Given the description of an element on the screen output the (x, y) to click on. 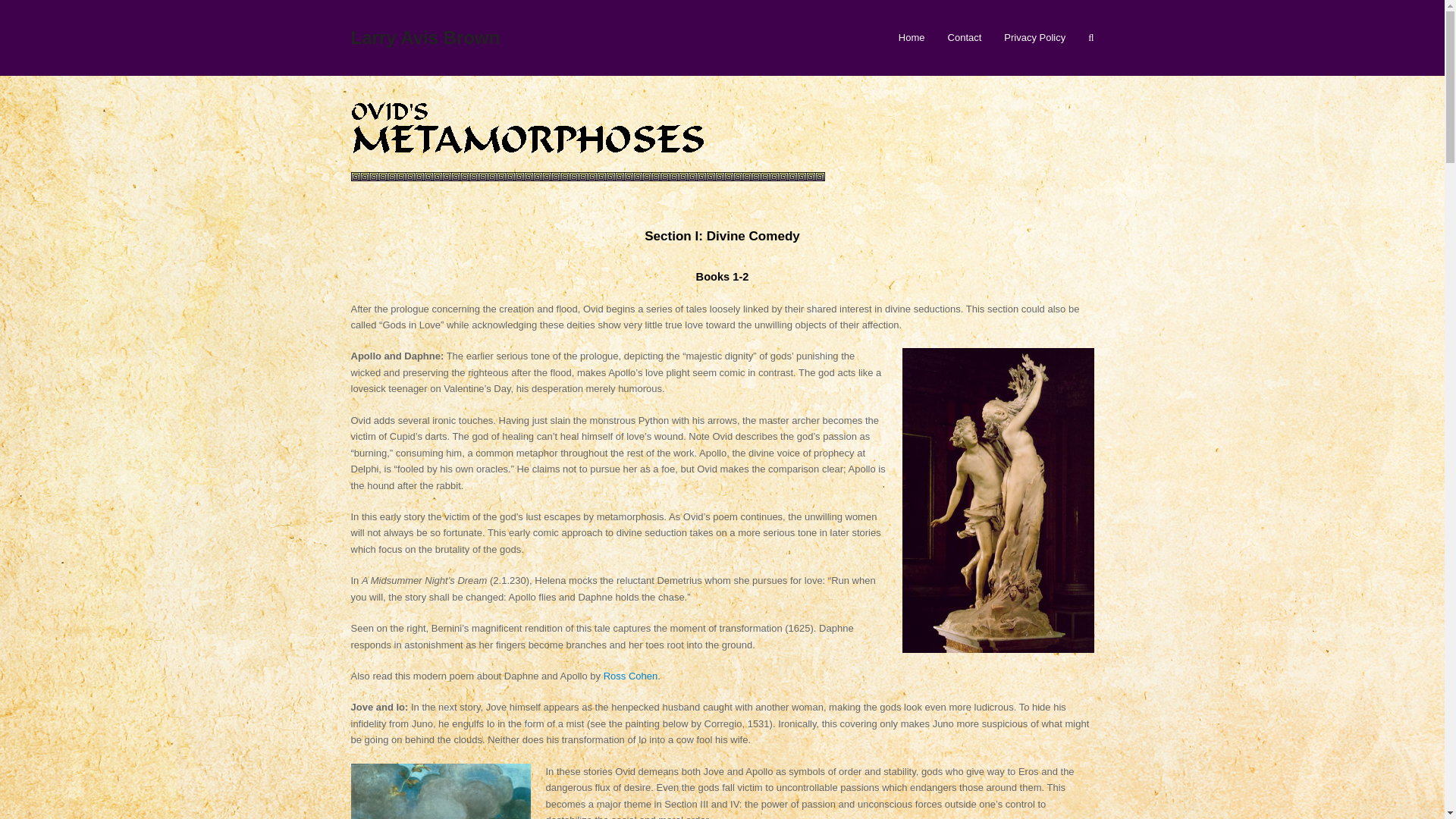
Home (911, 37)
Ross Cohen (631, 675)
Contact (964, 37)
Larry Avis Brown (424, 37)
Privacy Policy (1034, 37)
